Given the description of an element on the screen output the (x, y) to click on. 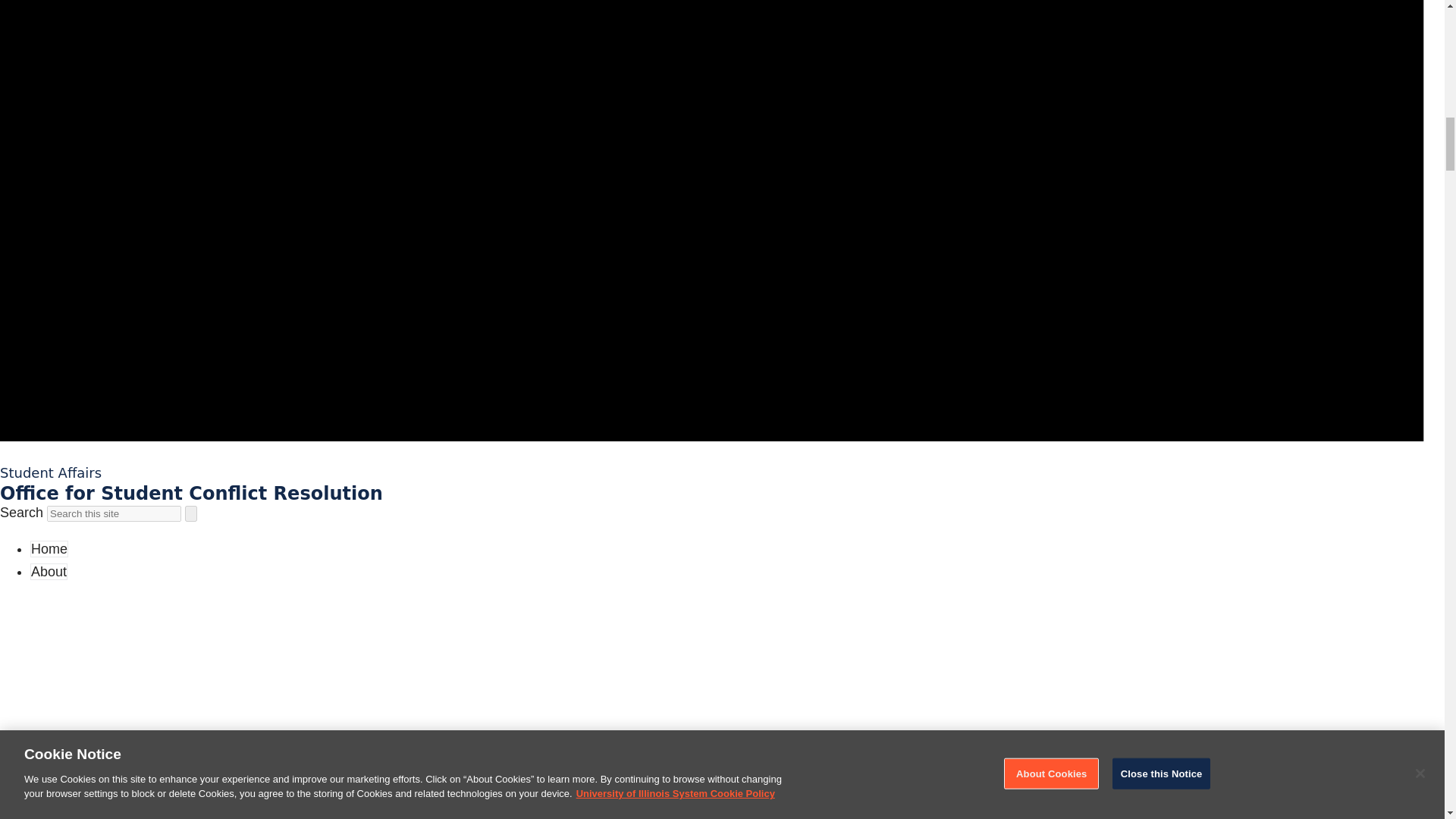
Student Affairs (52, 472)
Home (49, 548)
Office for Student Conflict Resolution (192, 492)
About (48, 571)
